Given the description of an element on the screen output the (x, y) to click on. 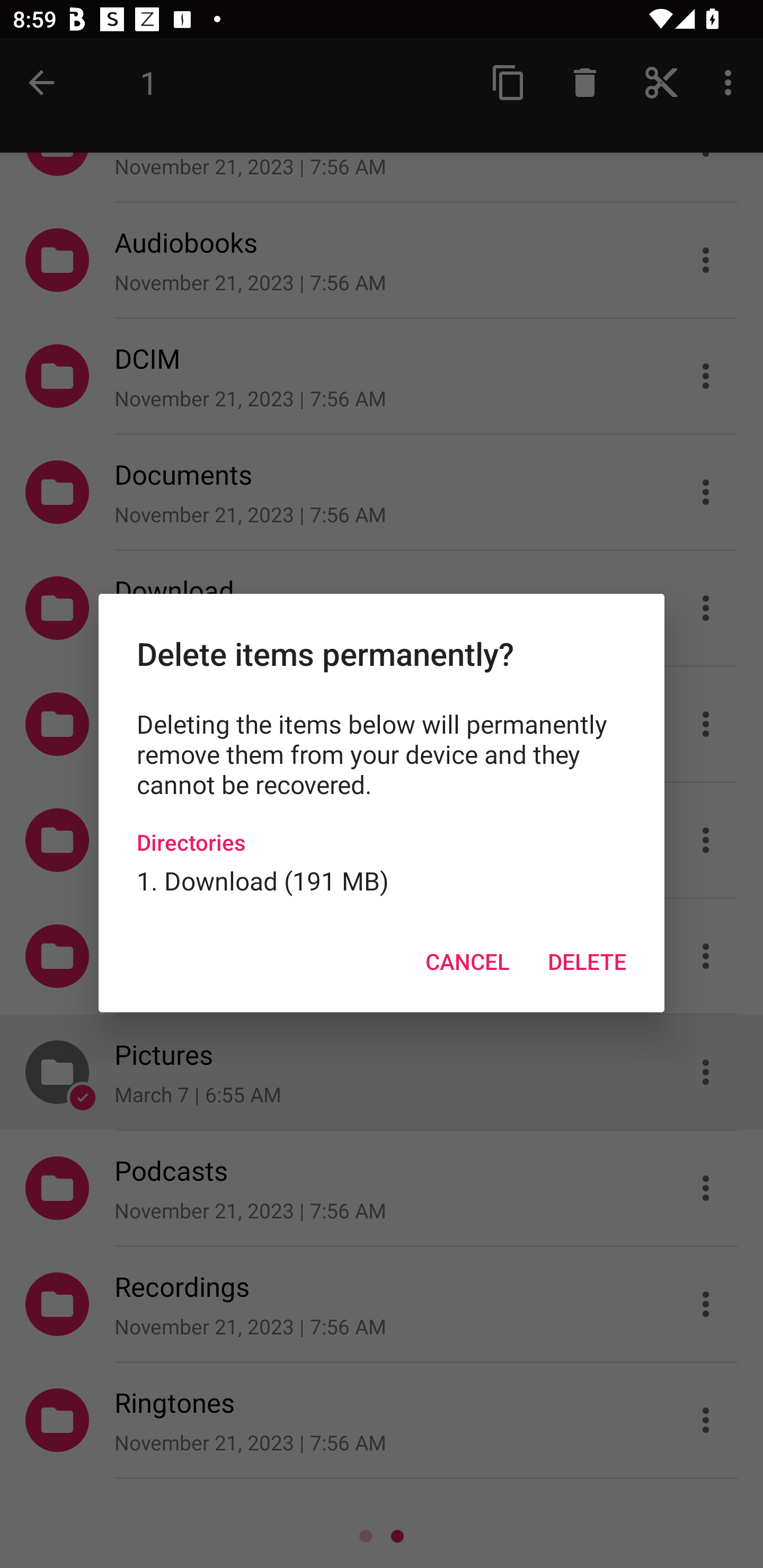
CANCEL (466, 961)
DELETE (586, 961)
